Given the description of an element on the screen output the (x, y) to click on. 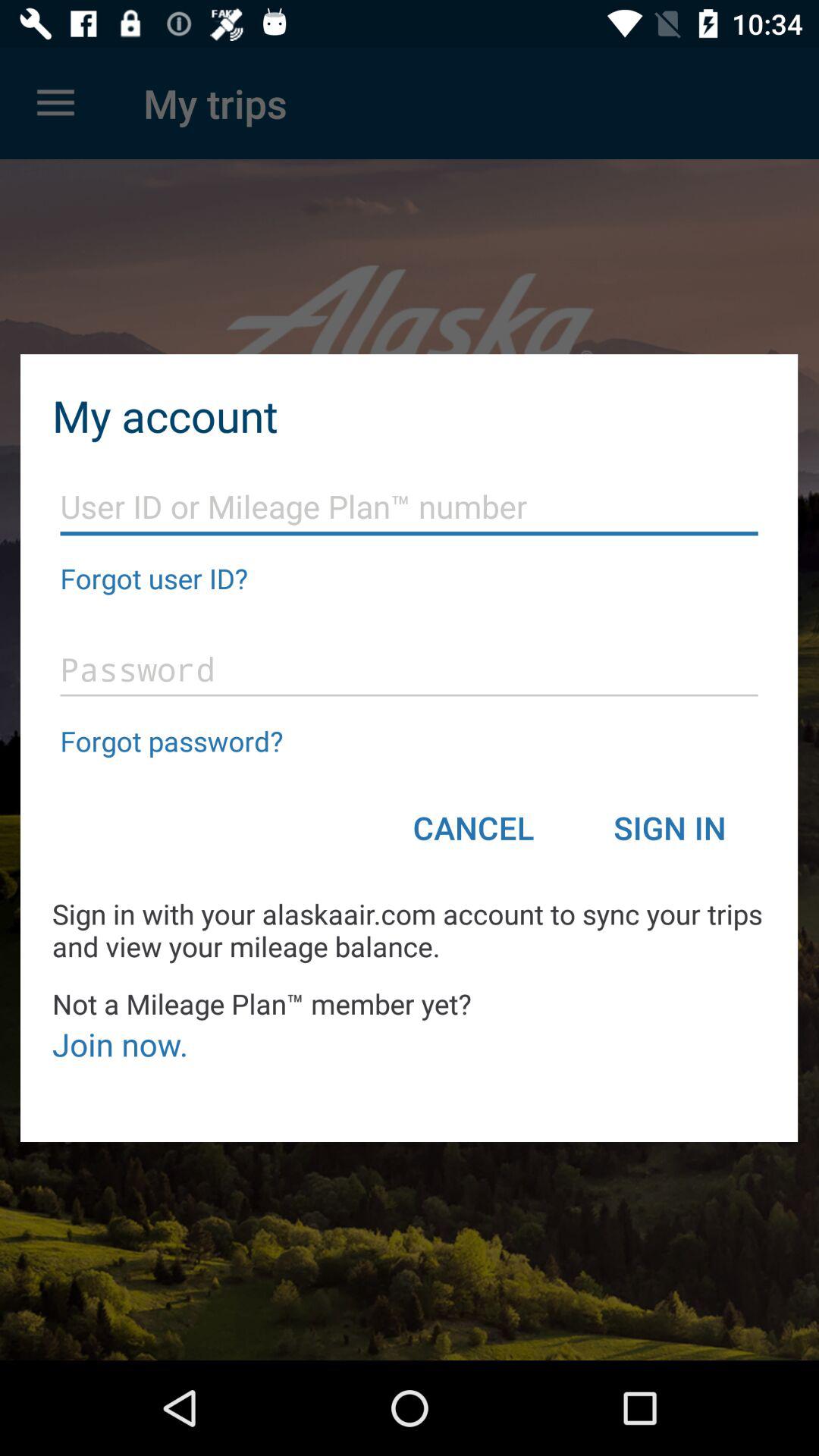
enter your password (409, 669)
